Given the description of an element on the screen output the (x, y) to click on. 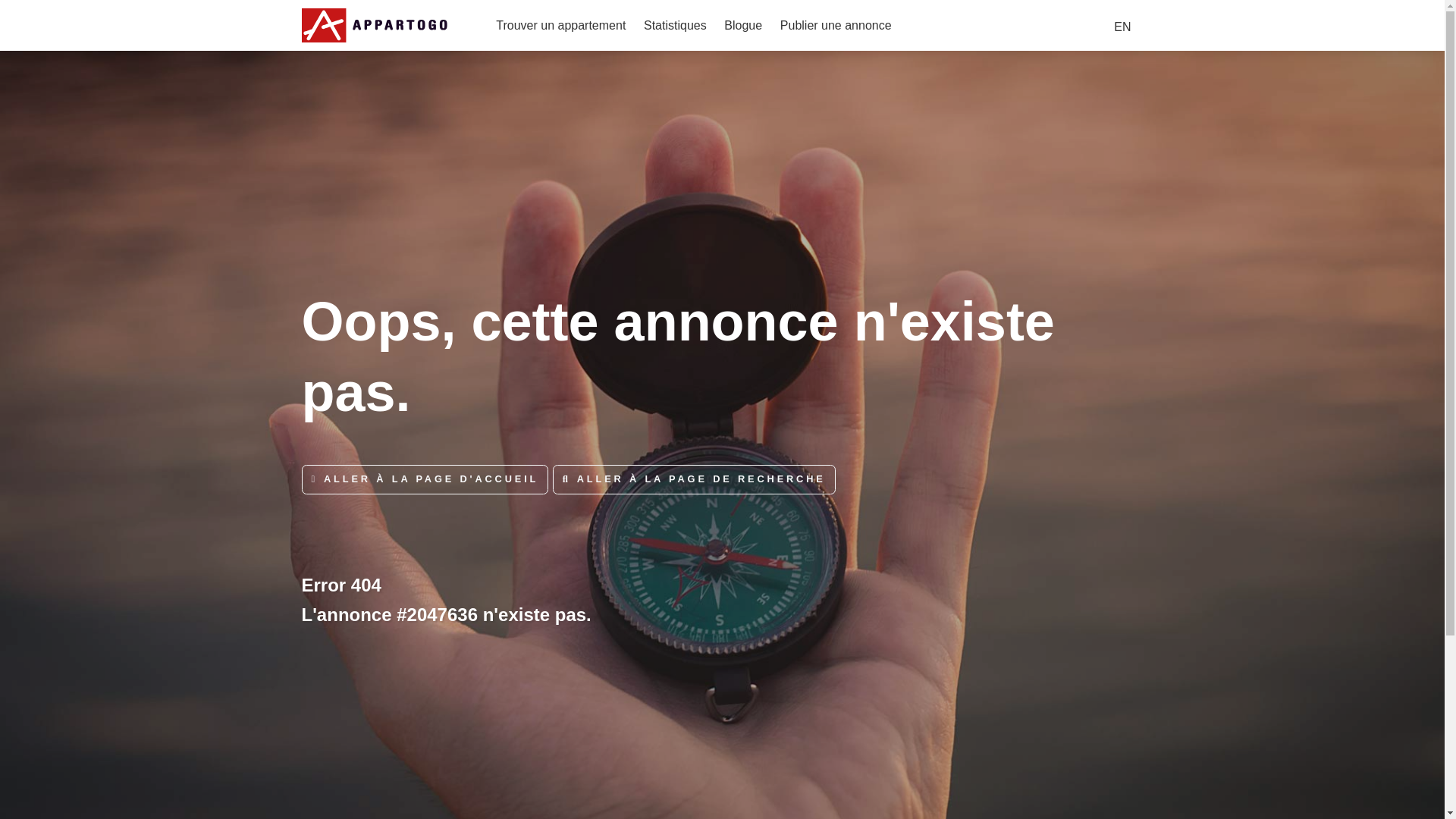
Blogue (742, 24)
Statistiques (674, 24)
Publier une annonce (835, 24)
Trouver un appartement (561, 24)
